Given the description of an element on the screen output the (x, y) to click on. 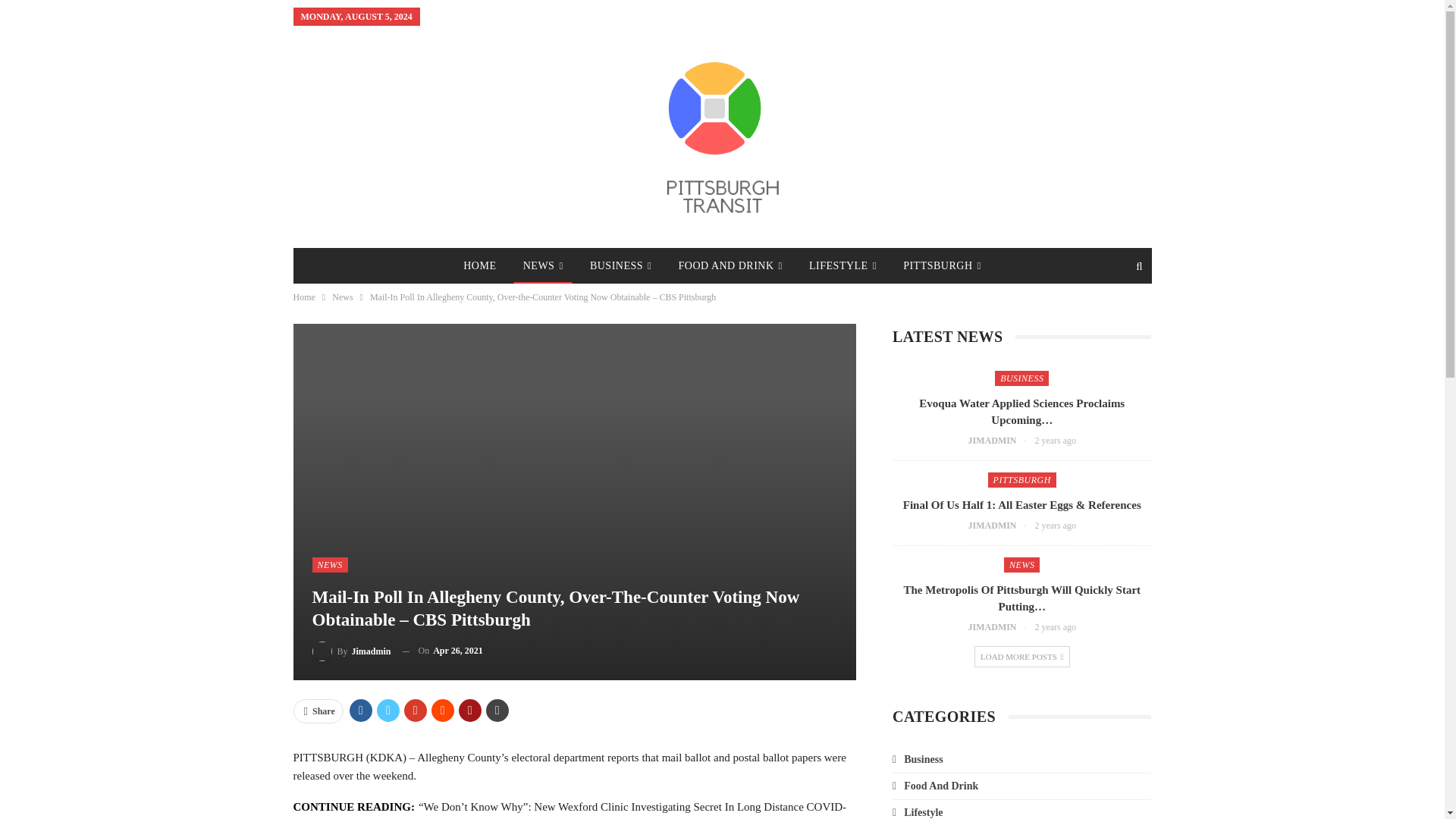
BUSINESS (620, 265)
HOME (479, 265)
FOOD AND DRINK (730, 265)
NEWS (542, 265)
